Given the description of an element on the screen output the (x, y) to click on. 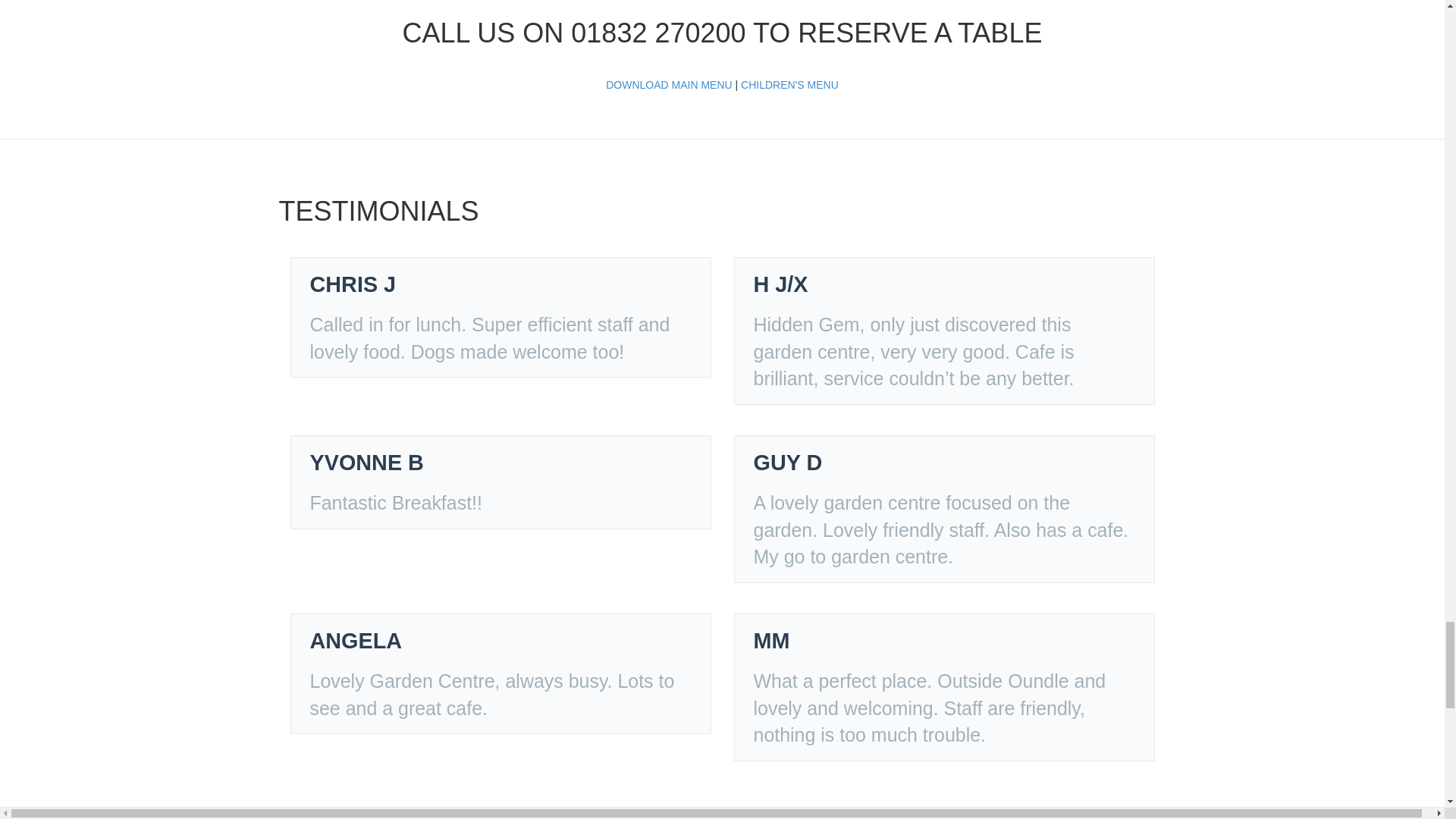
DOWNLOAD MAIN MENU (668, 84)
CHILDREN'S MENU (789, 84)
